Given the description of an element on the screen output the (x, y) to click on. 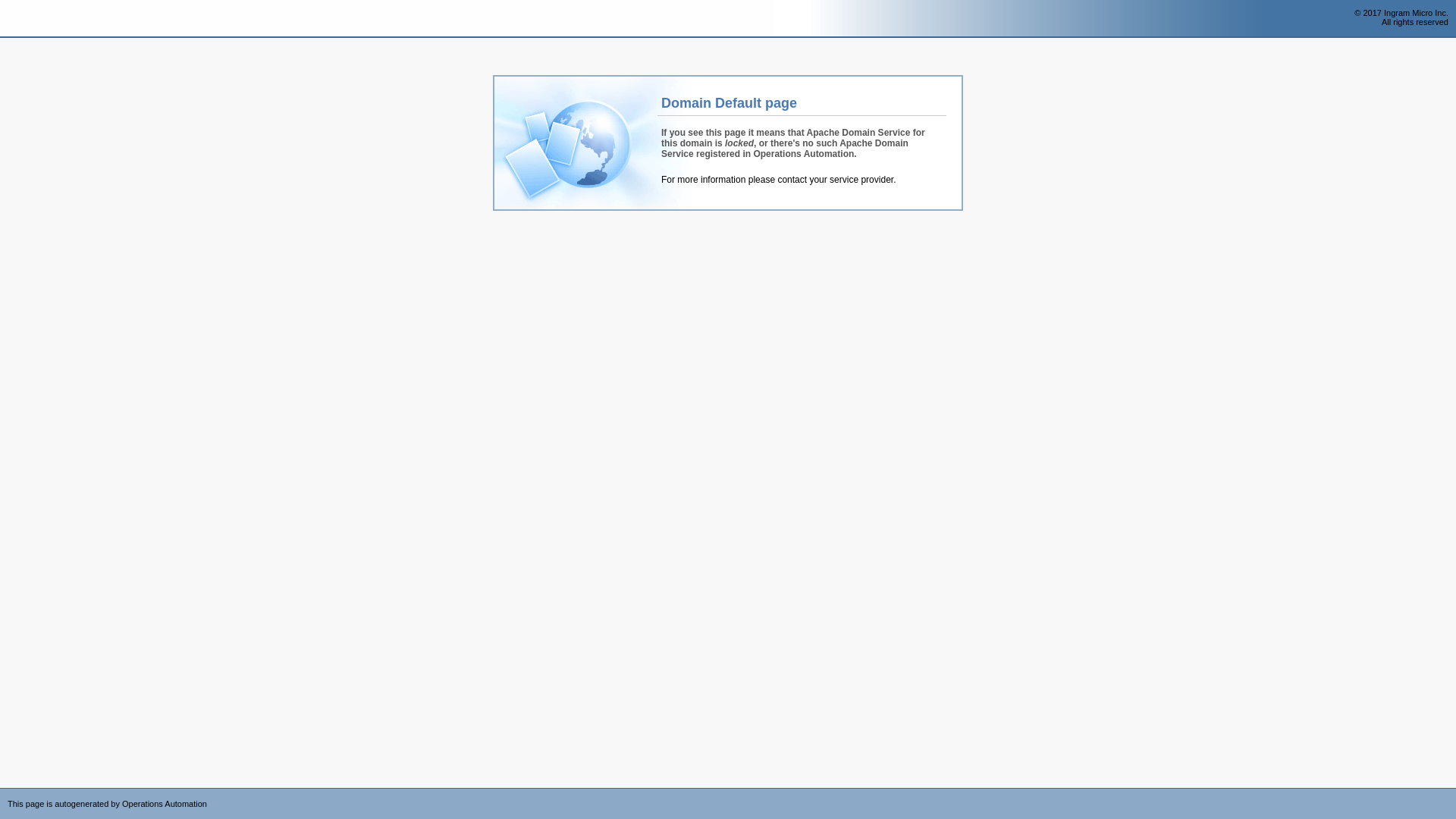
Powered by CloudBlue Commerce Element type: hover (1447, 792)
Operations Automation Element type: text (39, 18)
